Given the description of an element on the screen output the (x, y) to click on. 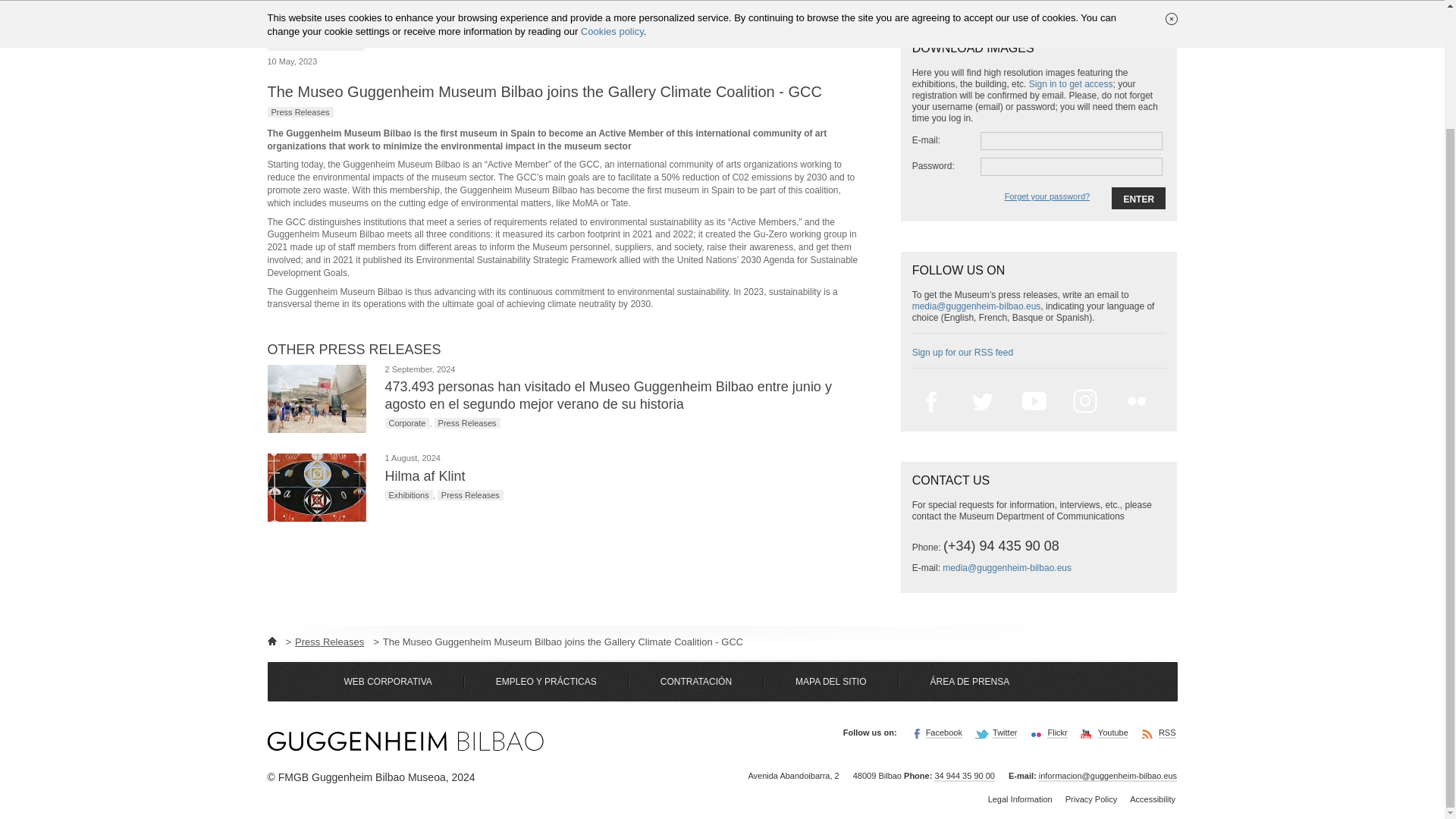
Press Releases (470, 494)
Twittear (842, 35)
Sign in to get access (1071, 83)
Corporate (407, 422)
Press Releases (466, 422)
Hilma af Klint (425, 476)
Hilma af Klint (315, 487)
Sign up for our RSS feed (962, 352)
Enter (1139, 198)
Press Releases (299, 112)
